Given the description of an element on the screen output the (x, y) to click on. 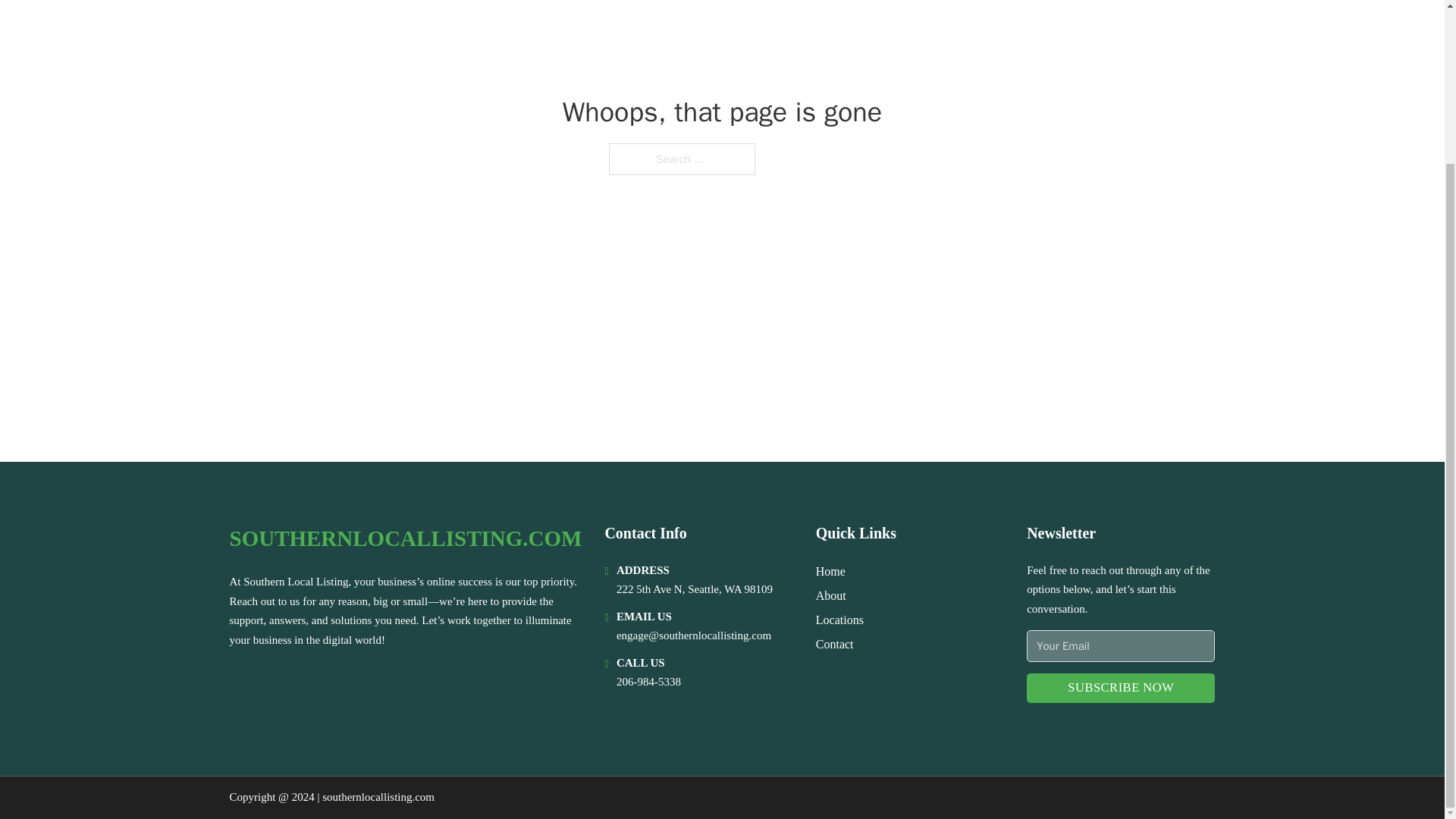
SOUTHERNLOCALLISTING.COM (404, 538)
Contact (834, 643)
Locations (839, 619)
About (830, 595)
206-984-5338 (648, 681)
Home (830, 571)
SUBSCRIBE NOW (1120, 687)
